Given the description of an element on the screen output the (x, y) to click on. 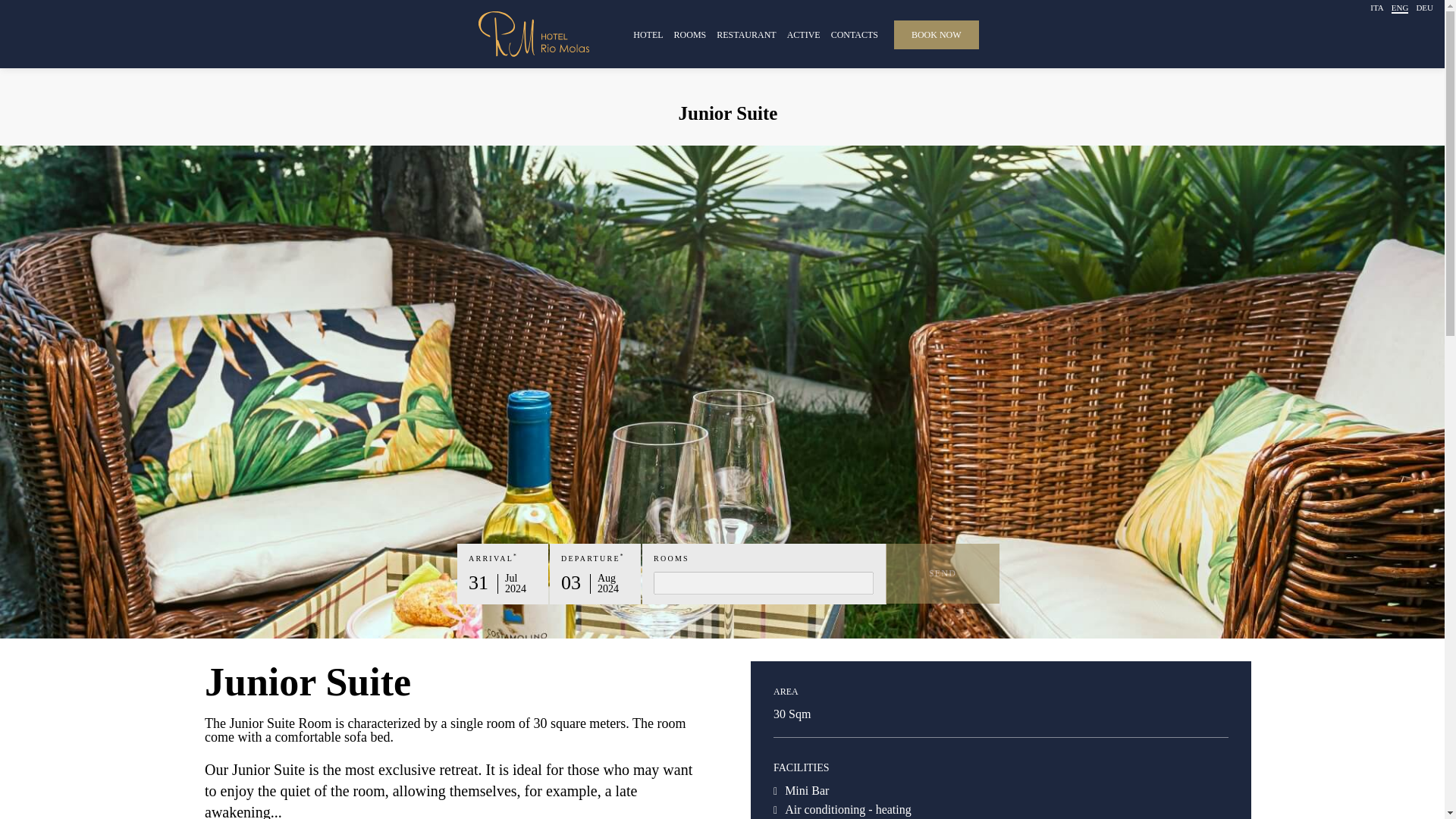
HOTEL (647, 33)
Send (941, 573)
Send (941, 573)
RESTAURANT (746, 33)
ROOMS (690, 33)
ACTIVE (804, 33)
DEU (1423, 8)
ITA (1376, 8)
ENG (1400, 8)
CONTACTS (854, 33)
